Given the description of an element on the screen output the (x, y) to click on. 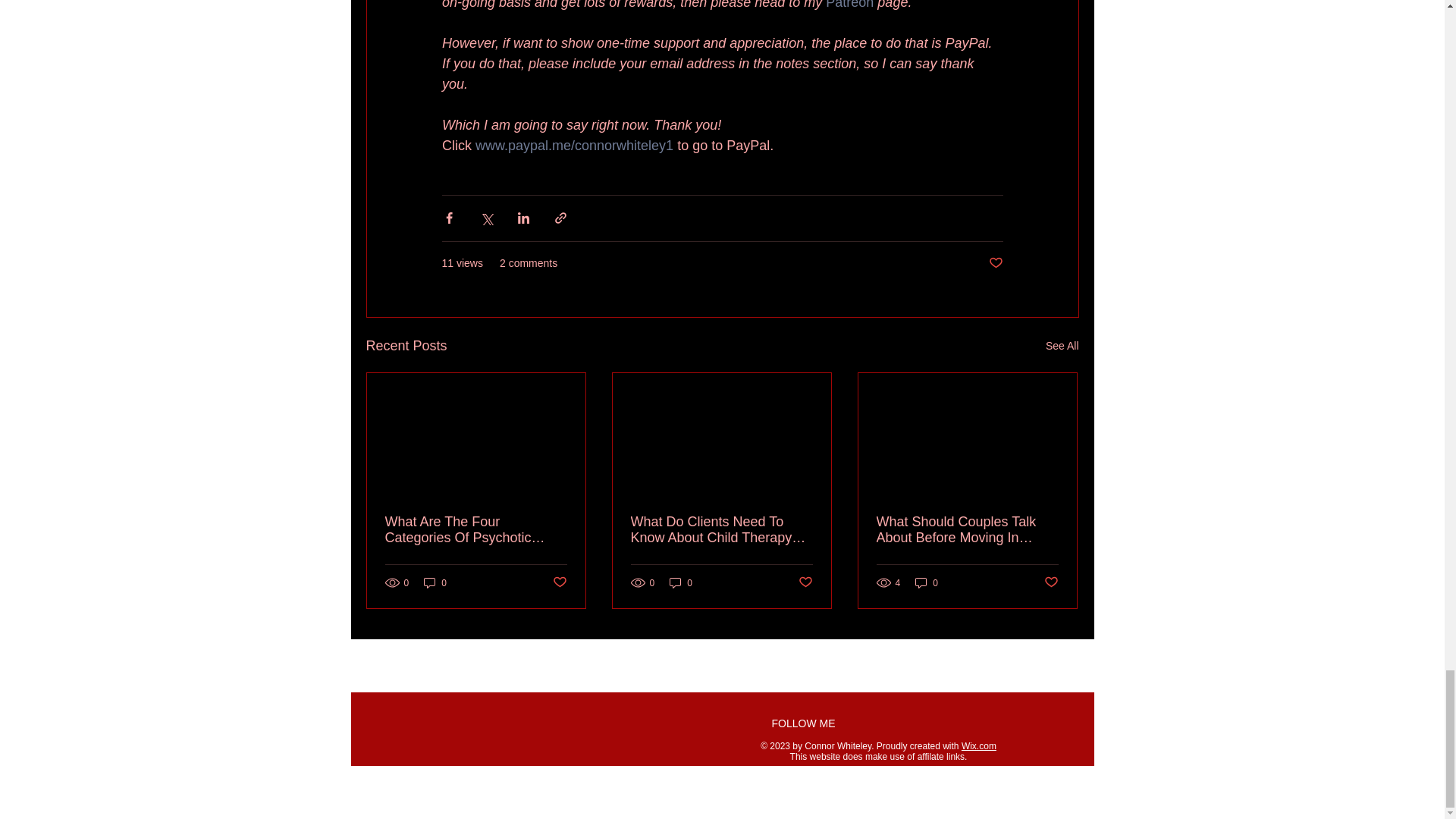
See All (1061, 345)
Patreon (849, 5)
Post not marked as liked (995, 263)
